Given the description of an element on the screen output the (x, y) to click on. 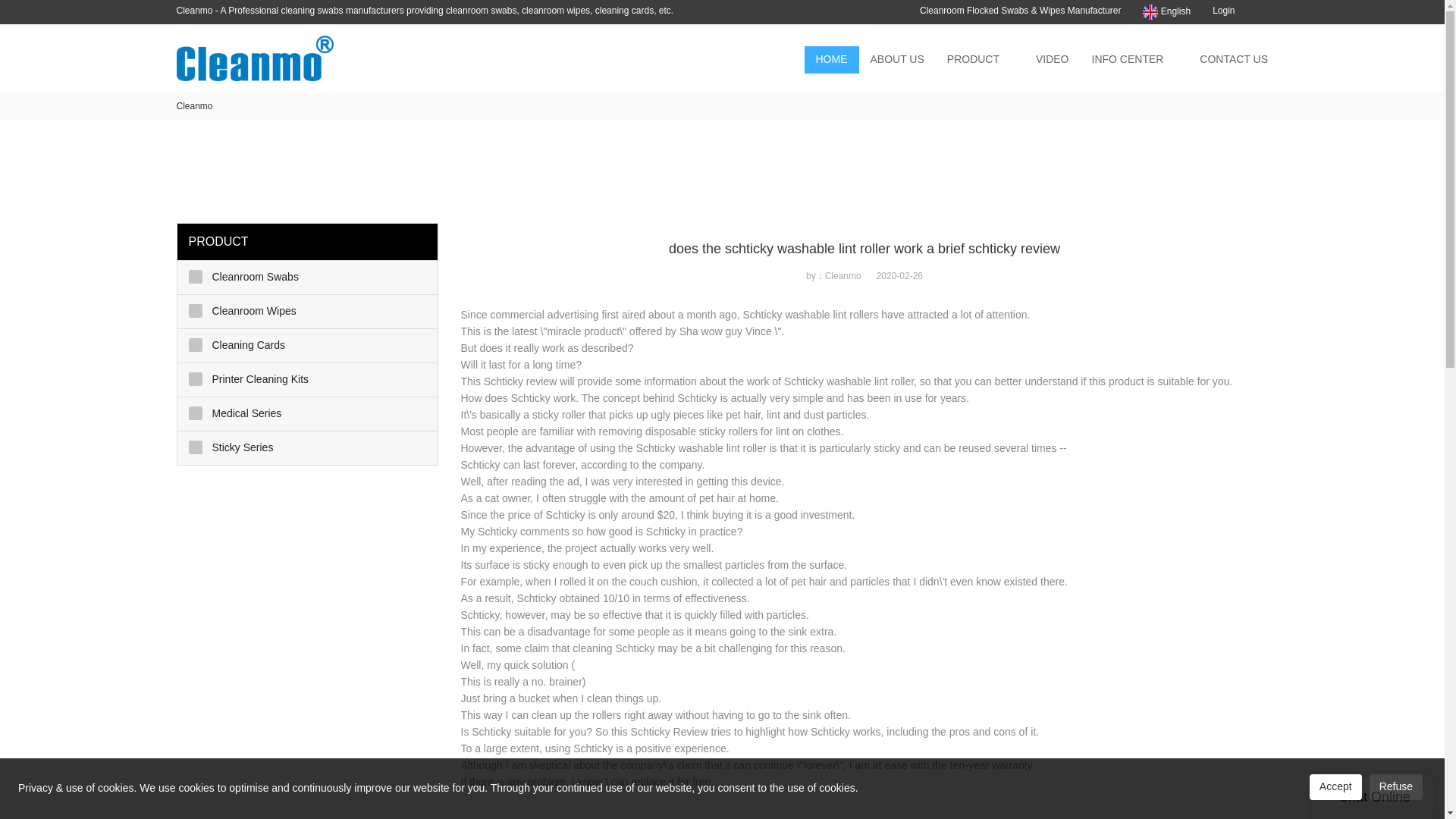
HOME (831, 59)
ABOUT US (896, 59)
PRODUCT (973, 59)
Login (1223, 9)
